Given the description of an element on the screen output the (x, y) to click on. 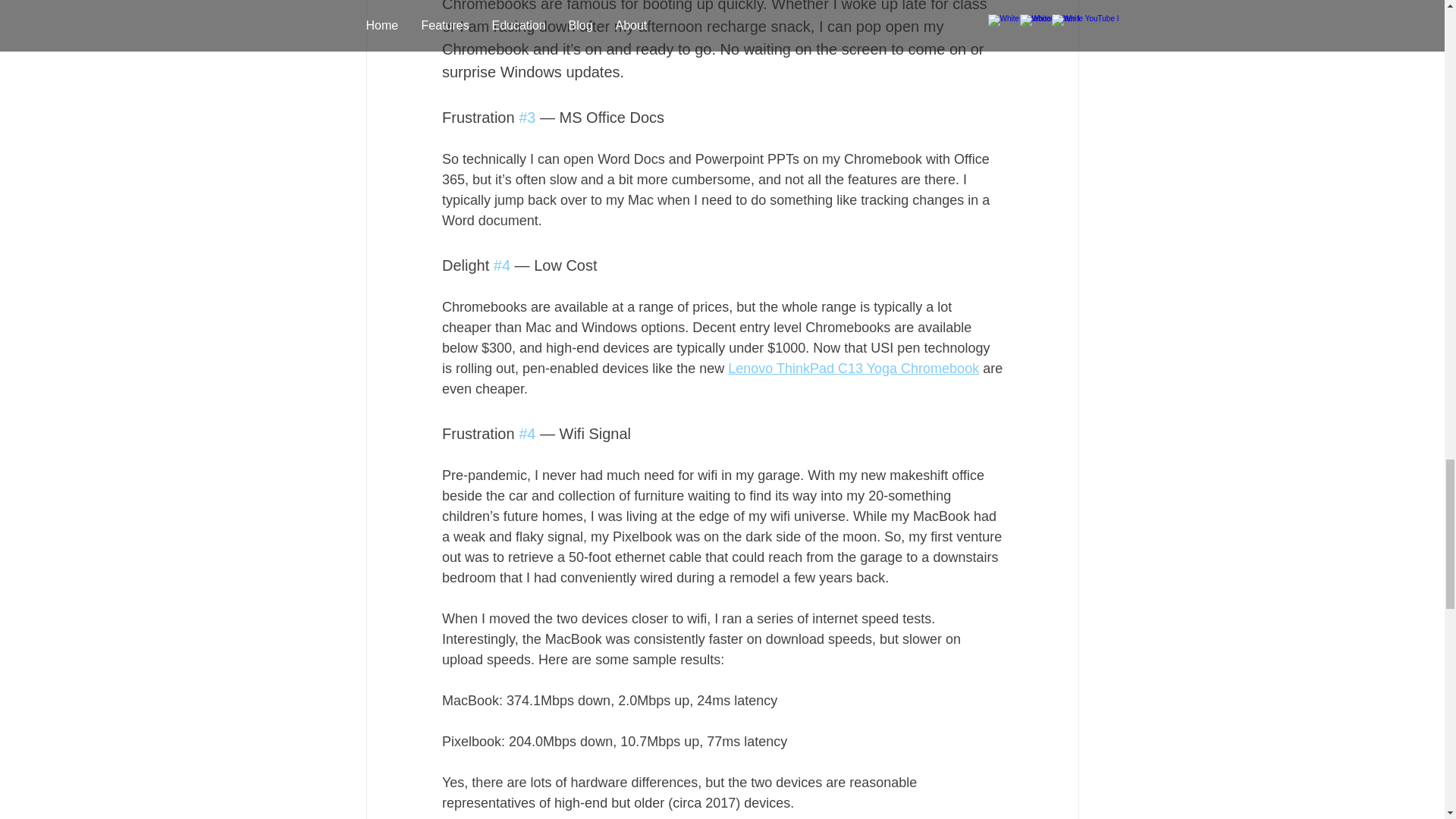
Lenovo ThinkPad C13 Yoga Chromebook (853, 368)
